Given the description of an element on the screen output the (x, y) to click on. 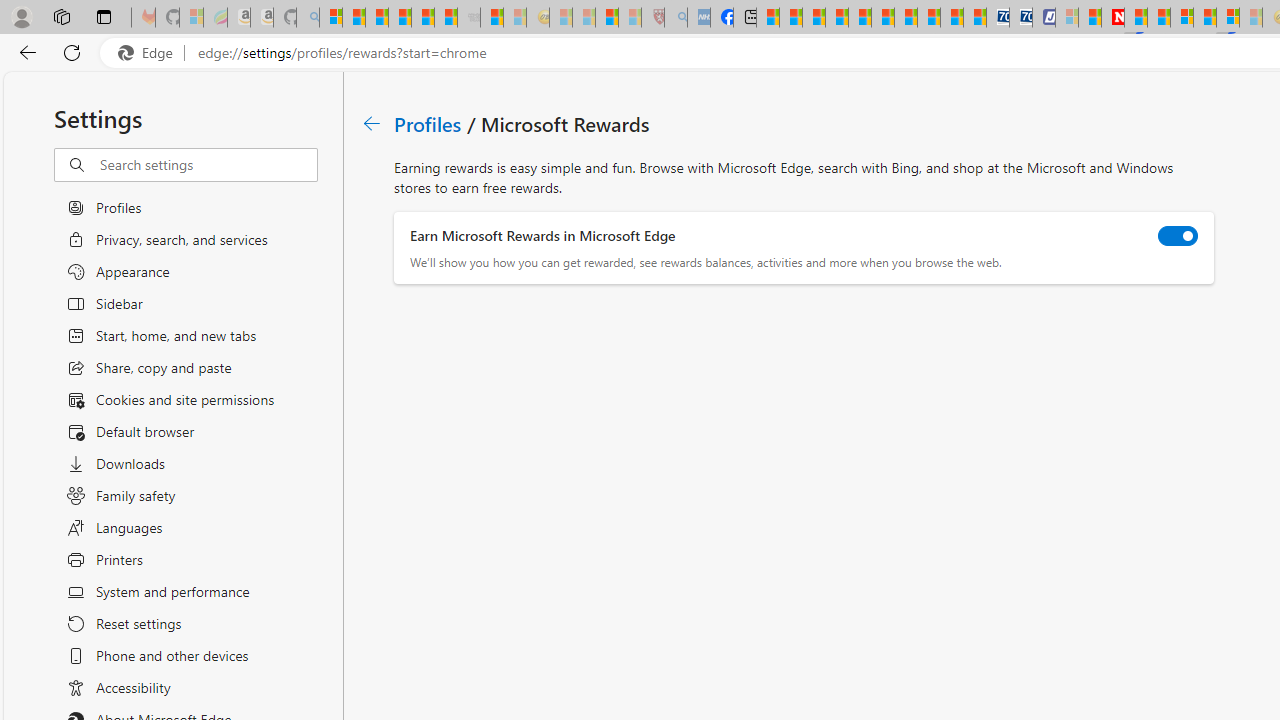
Recipes - MSN - Sleeping (561, 17)
New Report Confirms 2023 Was Record Hot | Watch (422, 17)
Stocks - MSN (445, 17)
Edge (150, 53)
The Weather Channel - MSN (376, 17)
Earn Microsoft Rewards in Microsoft Edge (1178, 236)
Science - MSN (607, 17)
Go back to Profiles page. (372, 123)
